Given the description of an element on the screen output the (x, y) to click on. 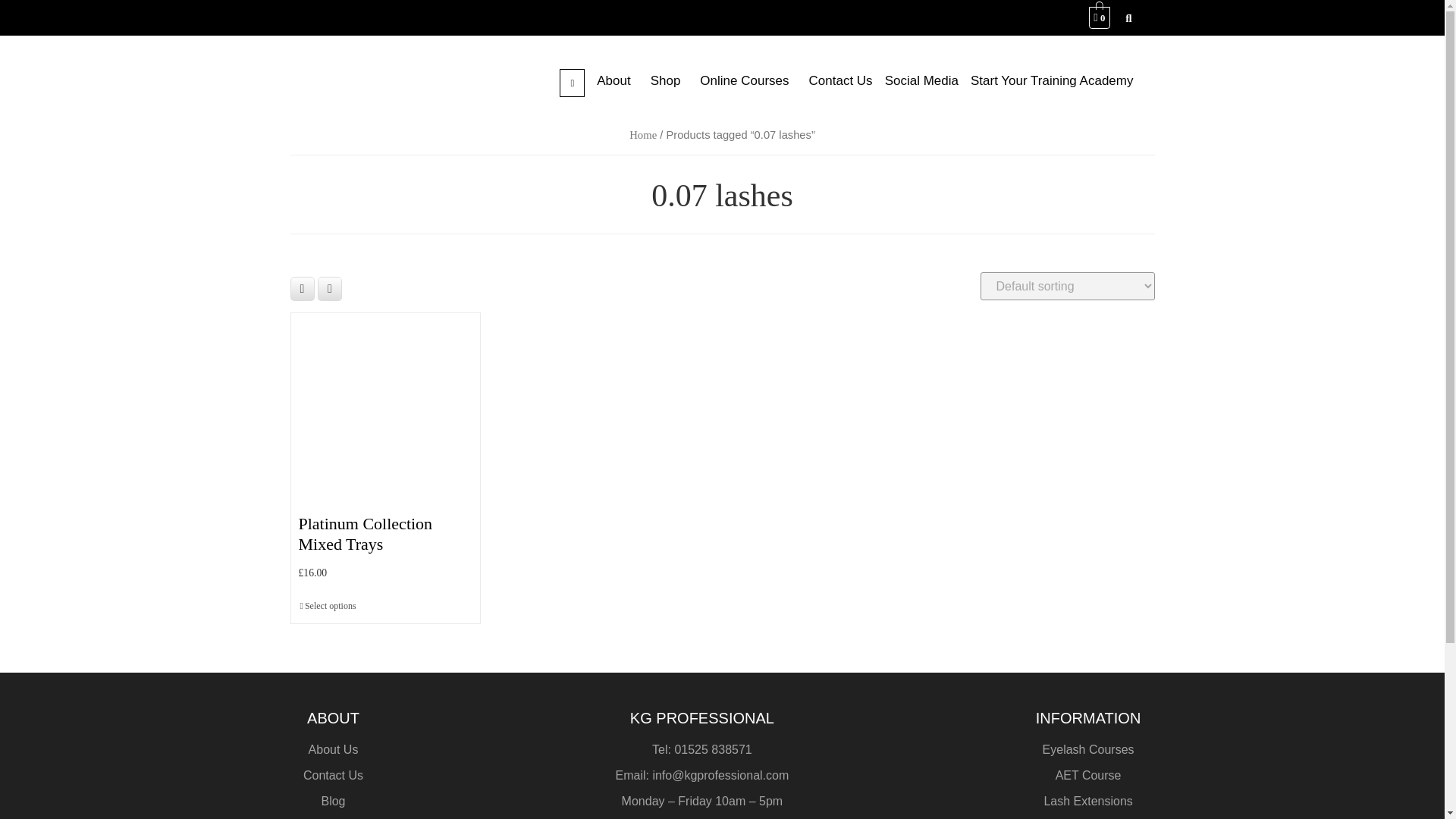
View your shopping cart (1099, 16)
0 (1099, 16)
Shop (669, 80)
Start Your Training Academy (1055, 80)
About (617, 80)
Contact Us (841, 80)
Social Media (921, 80)
Online Courses (748, 80)
Minimum qty is 1 (328, 606)
